Given the description of an element on the screen output the (x, y) to click on. 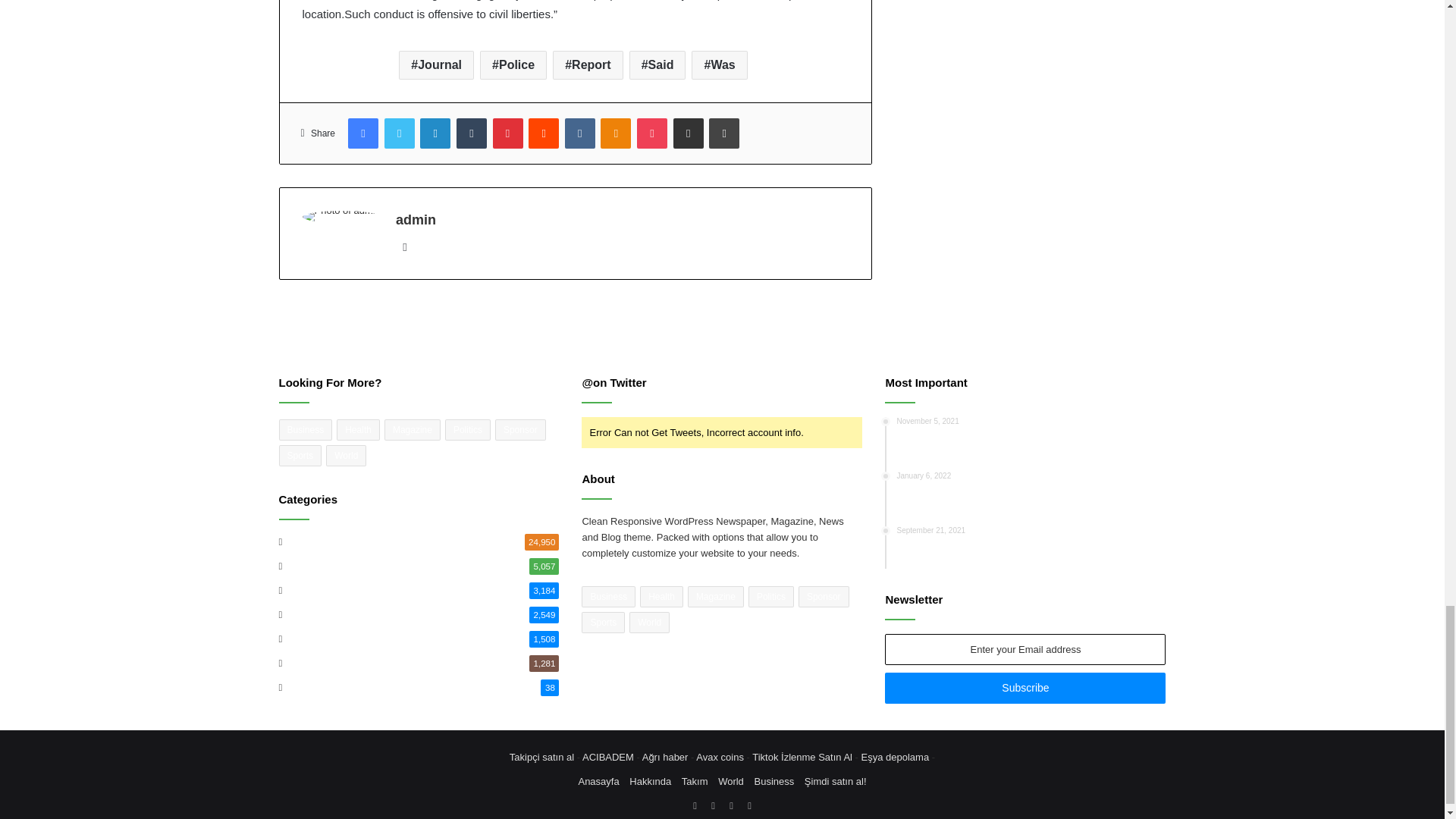
Subscribe (1025, 687)
Police (513, 64)
Said (656, 64)
Journal (436, 64)
Report (588, 64)
